Given the description of an element on the screen output the (x, y) to click on. 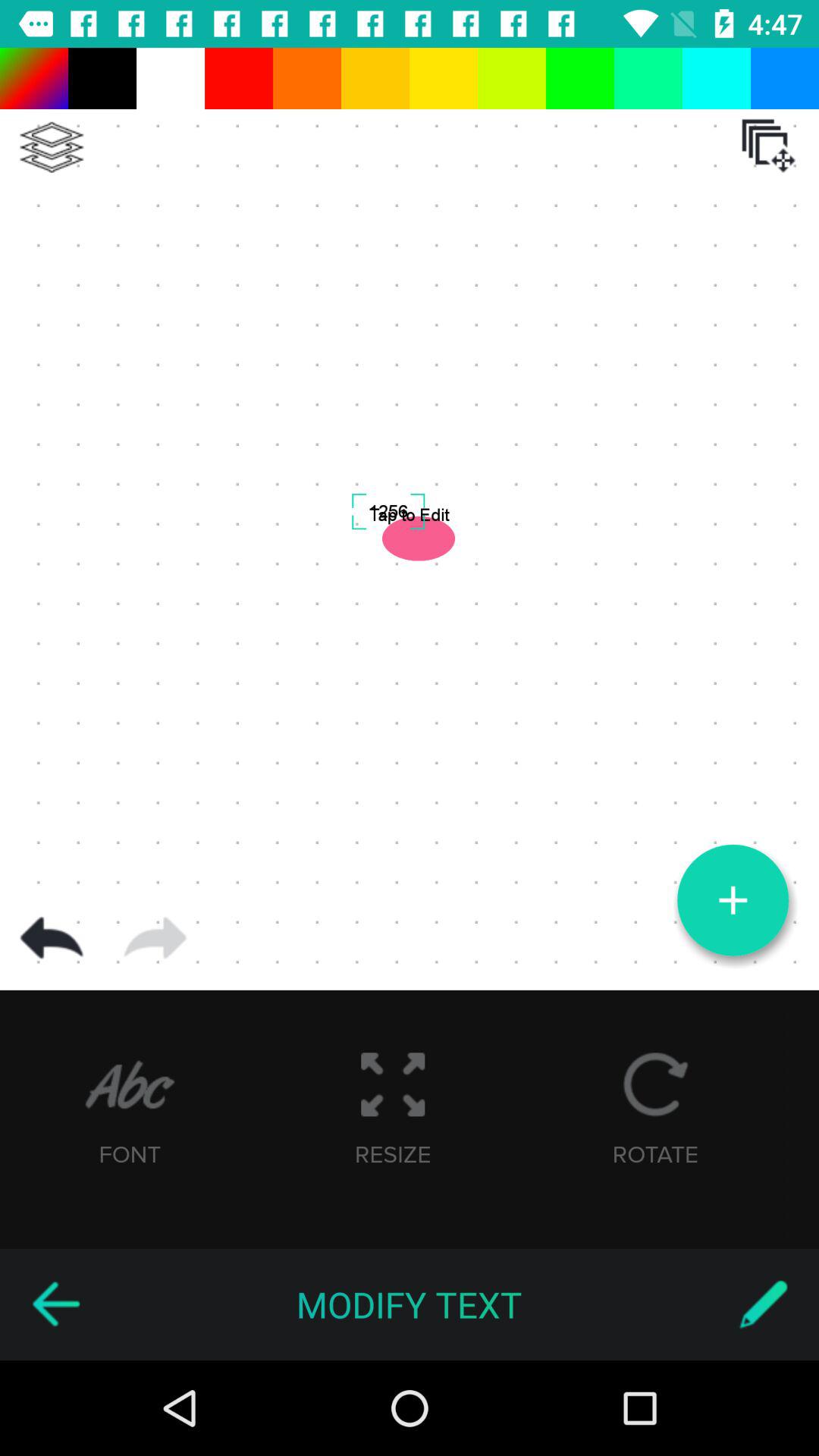
undo (51, 938)
